Given the description of an element on the screen output the (x, y) to click on. 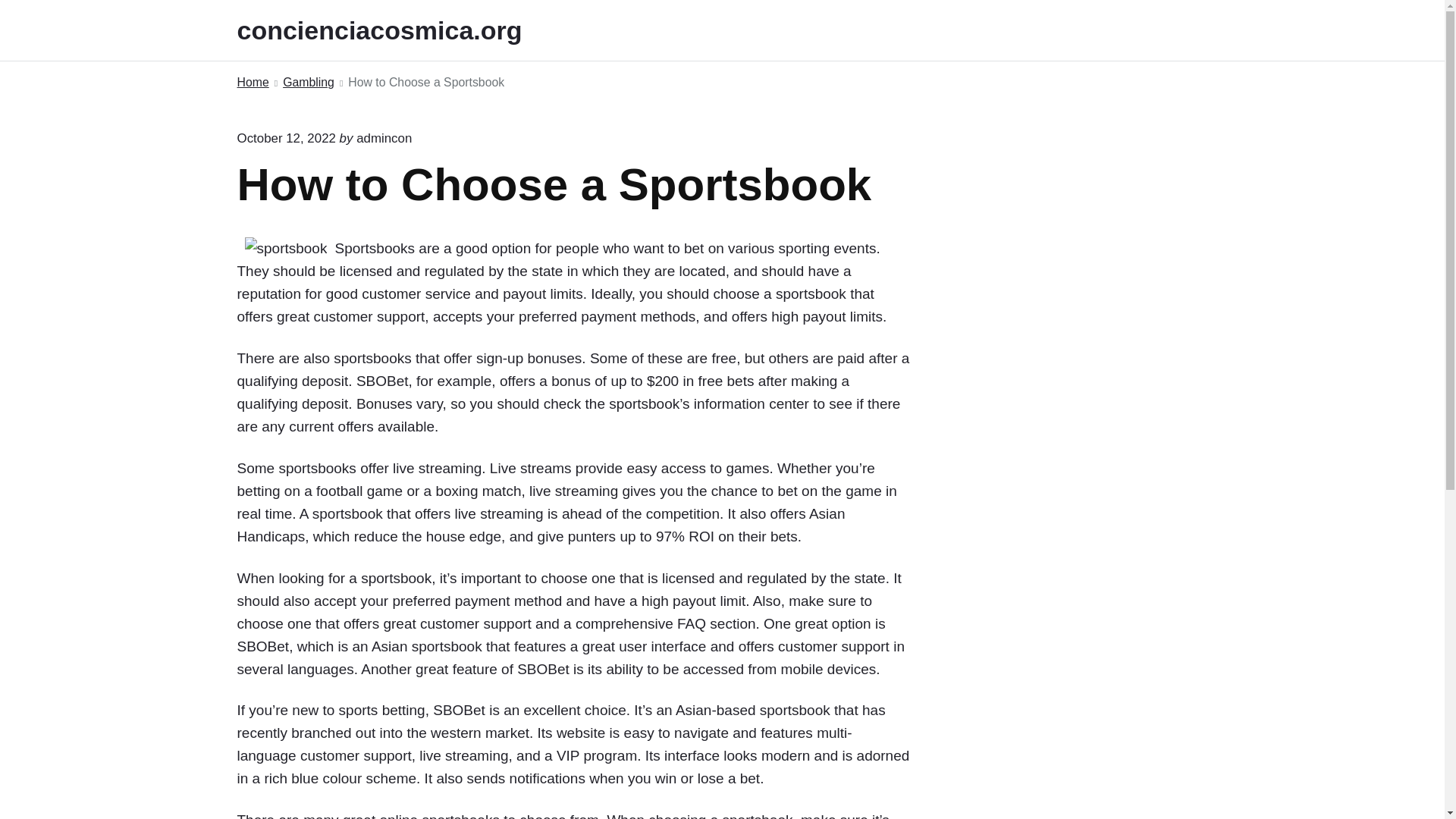
Posts by admincon (384, 138)
admincon (384, 138)
Home (251, 82)
Wednesday, October 12, 2022, 10:00 am (284, 138)
concienciacosmica.org (399, 30)
Gambling (308, 82)
